Given the description of an element on the screen output the (x, y) to click on. 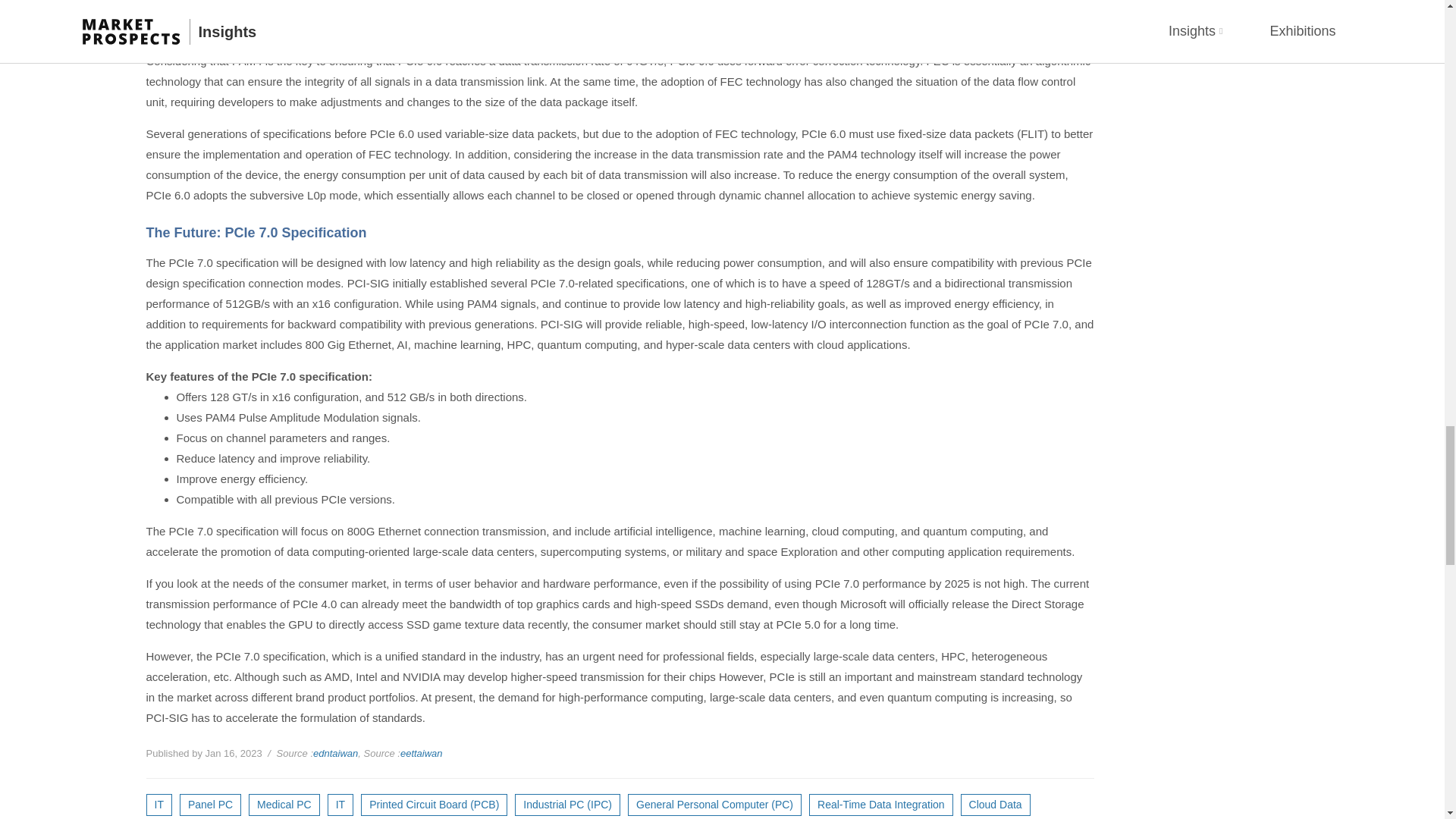
IT (340, 804)
edntaiwan (335, 753)
IT (158, 804)
Real-Time Data Integration (881, 804)
Medical PC (284, 804)
Cloud Data (995, 804)
eettaiwan (421, 753)
Panel PC (210, 804)
